Given the description of an element on the screen output the (x, y) to click on. 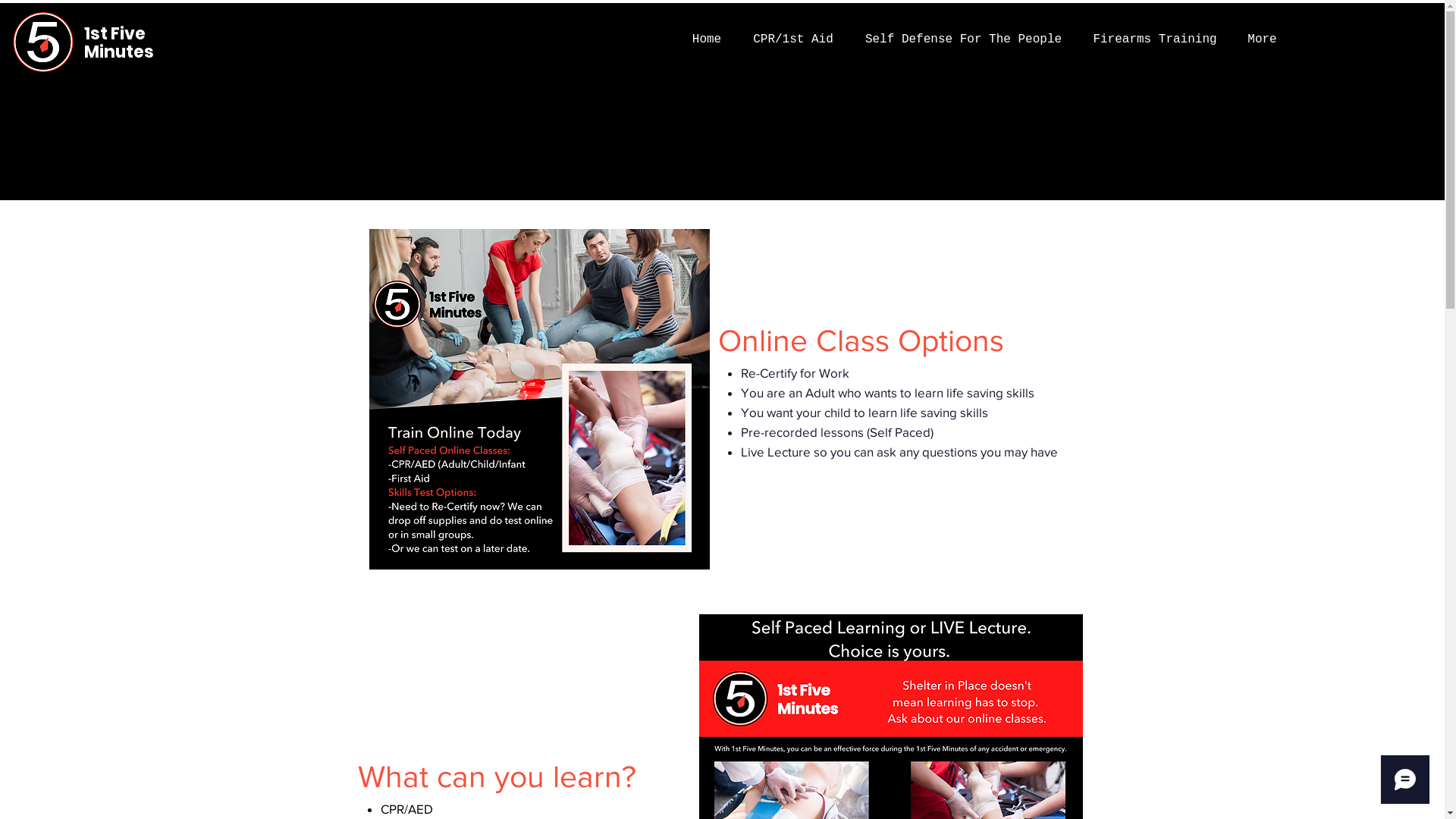
Self Defense For The People Element type: text (963, 39)
CPR/1st Aid Element type: text (793, 39)
Home Element type: text (706, 39)
Firearms Training Element type: text (1154, 39)
Self paced remote skills online 1st five Element type: hover (538, 399)
